Given the description of an element on the screen output the (x, y) to click on. 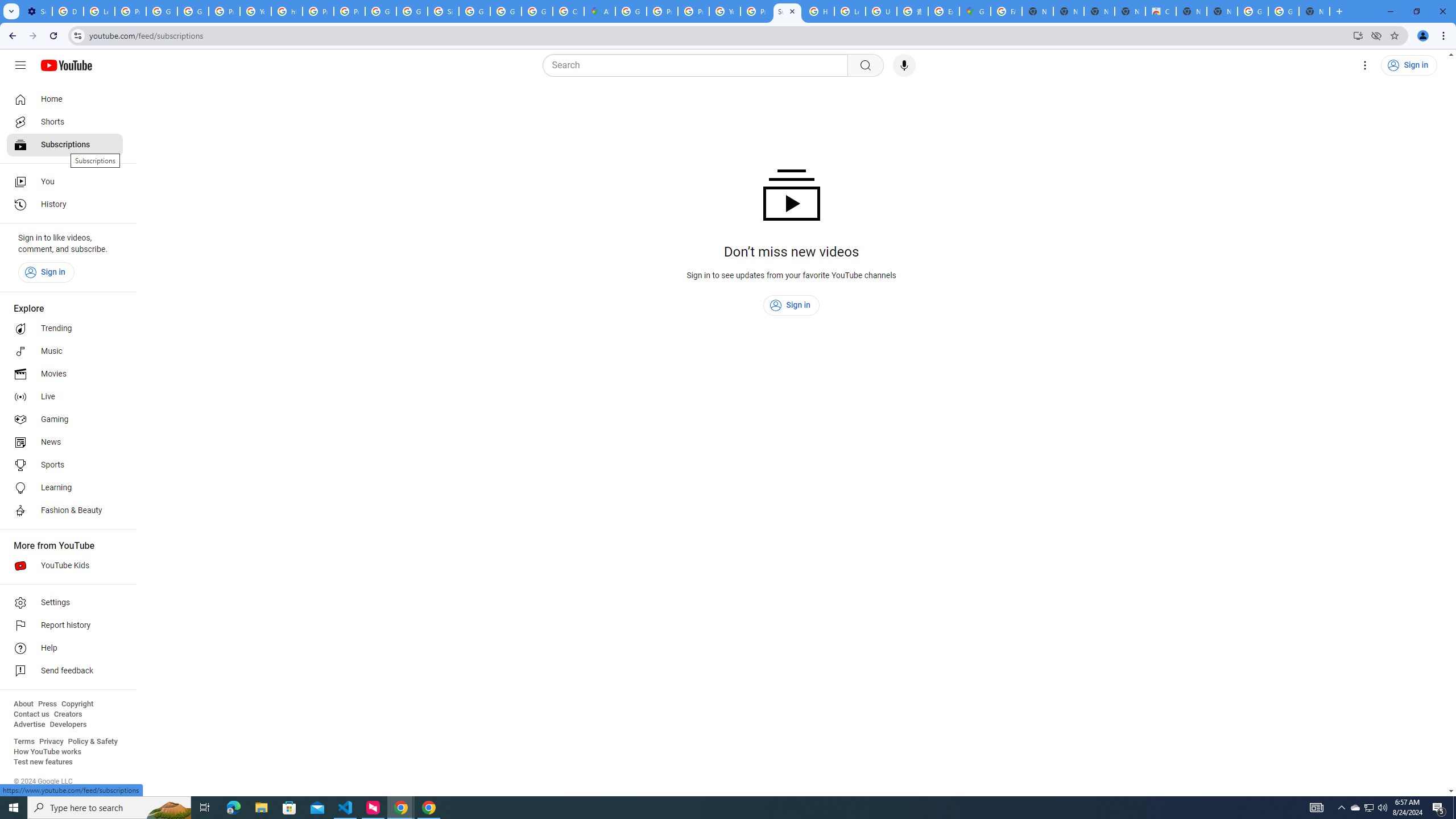
YouTube (255, 11)
Developers (68, 724)
Test new features (42, 761)
Advertise (29, 724)
Movies (64, 373)
Settings - On startup (36, 11)
Gaming (64, 419)
